Given the description of an element on the screen output the (x, y) to click on. 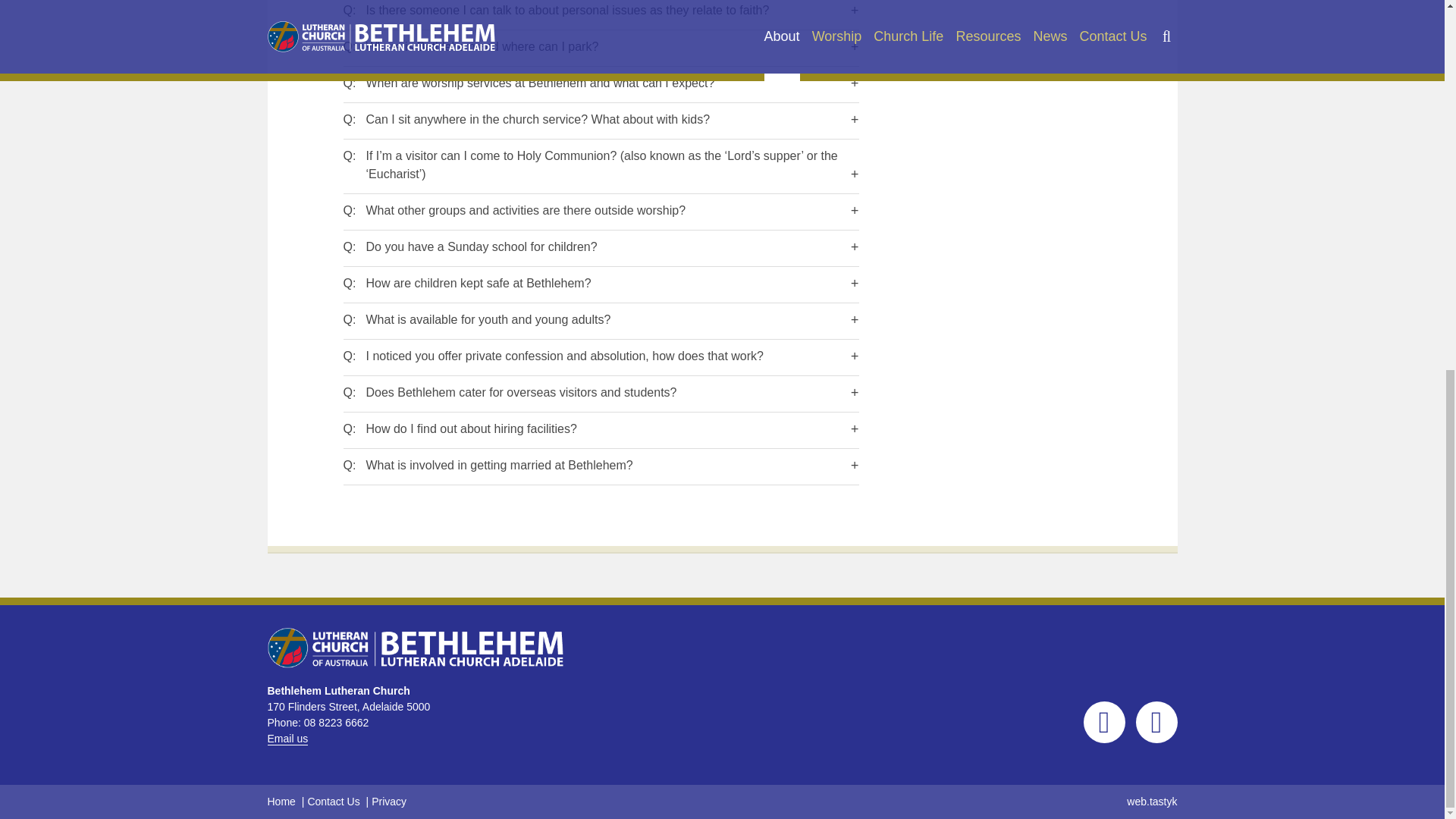
Home (280, 801)
Privacy (388, 801)
Contact Us (333, 801)
